Given the description of an element on the screen output the (x, y) to click on. 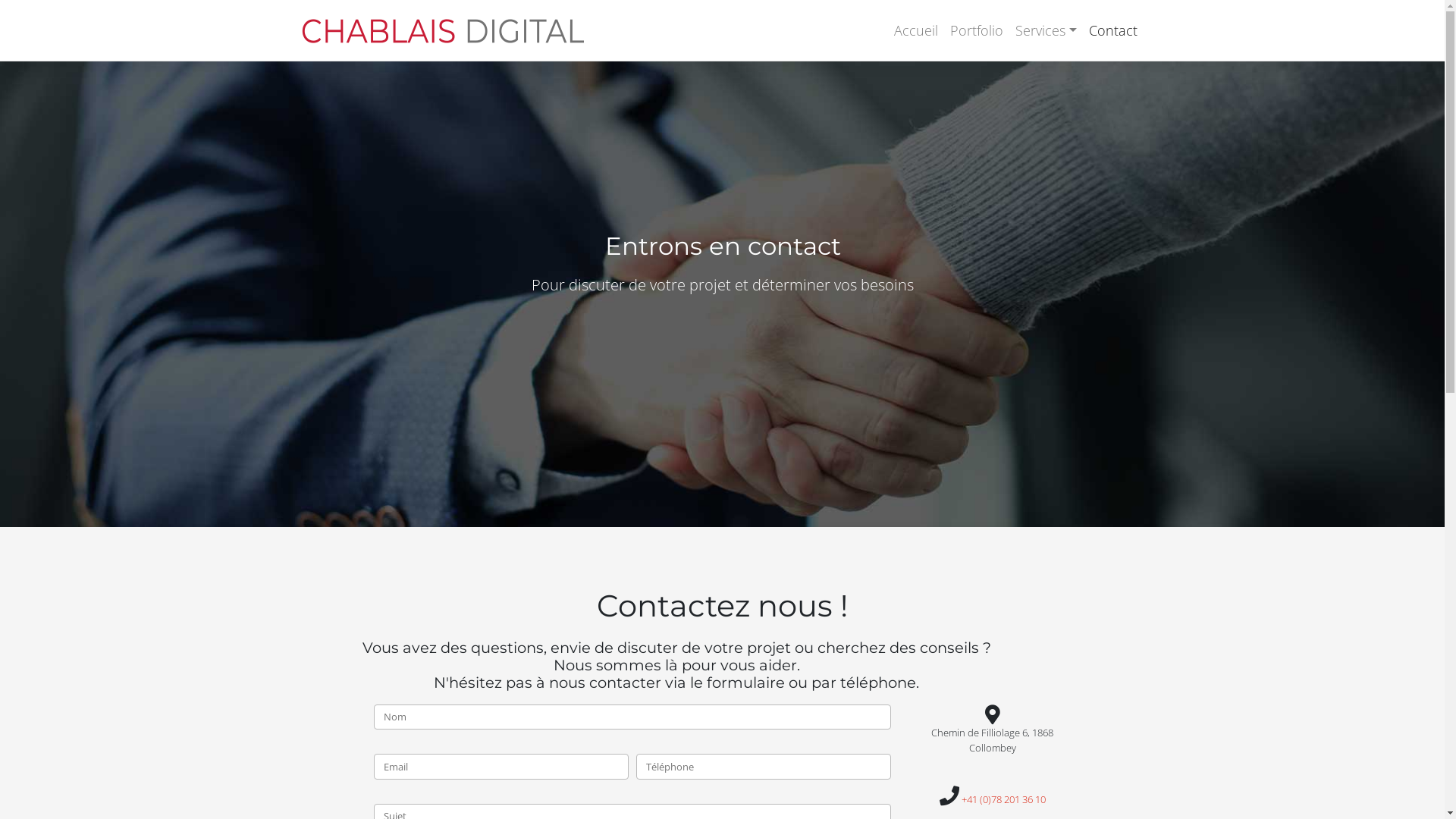
Portfolio Element type: text (976, 30)
+41 (0)78 201 36 10 Element type: text (1003, 799)
Services Element type: text (1045, 30)
Contact Element type: text (1112, 30)
Accueil Element type: text (916, 30)
